Given the description of an element on the screen output the (x, y) to click on. 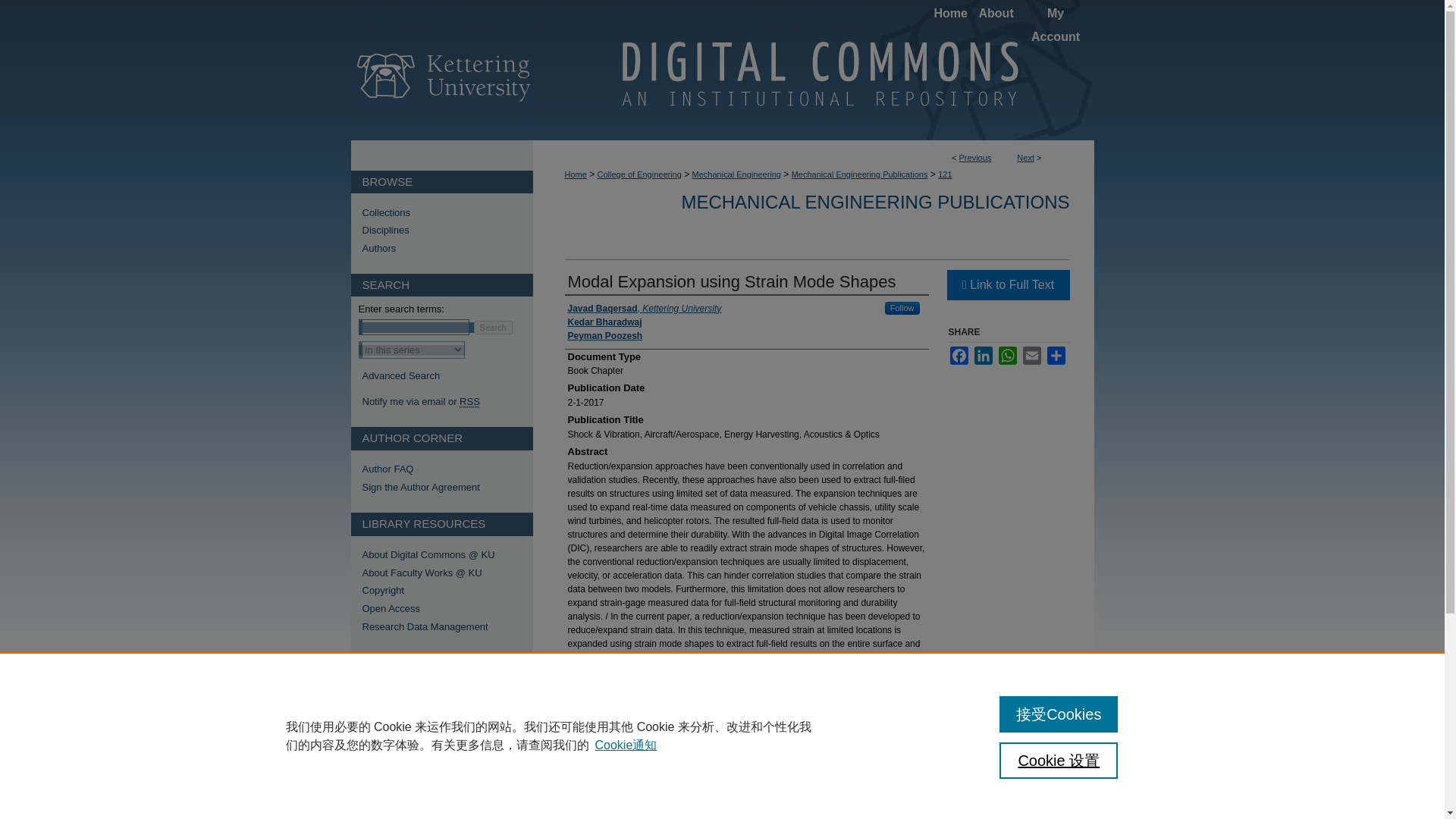
Javad Baqersad, Kettering University (643, 308)
WhatsApp (1006, 355)
LinkedIn (982, 355)
Browse by Author (447, 248)
Notify me via email or RSS (447, 401)
Home (950, 13)
Link opens in new window (1007, 285)
College of Engineering (638, 174)
Advanced Search (401, 375)
Email or RSS Notifications (447, 401)
Collections (447, 212)
Link to Full Text (1007, 285)
Mechanical Engineering Publications (860, 174)
About (994, 13)
Authors (447, 248)
